Given the description of an element on the screen output the (x, y) to click on. 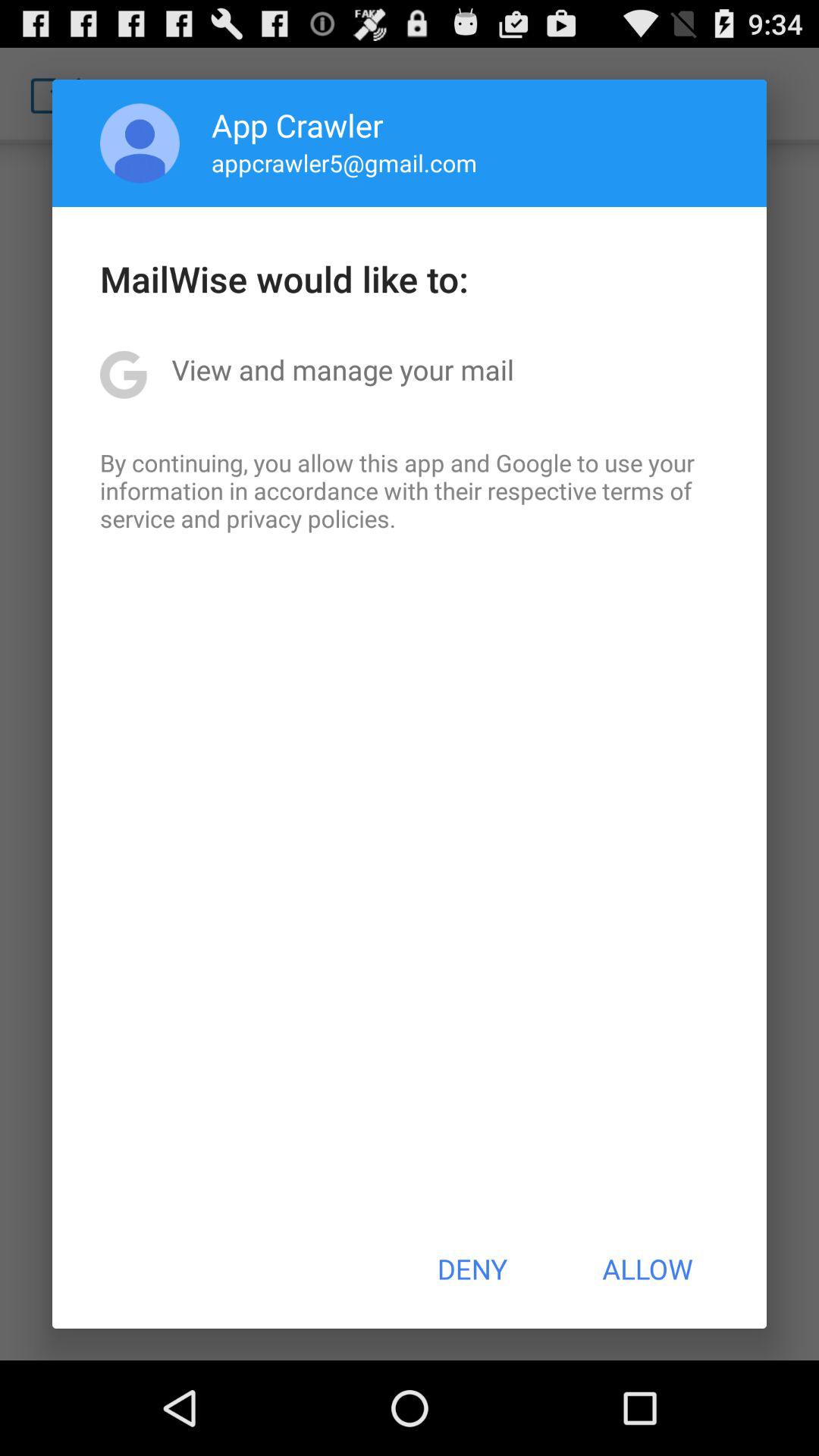
flip until the view and manage icon (342, 369)
